Given the description of an element on the screen output the (x, y) to click on. 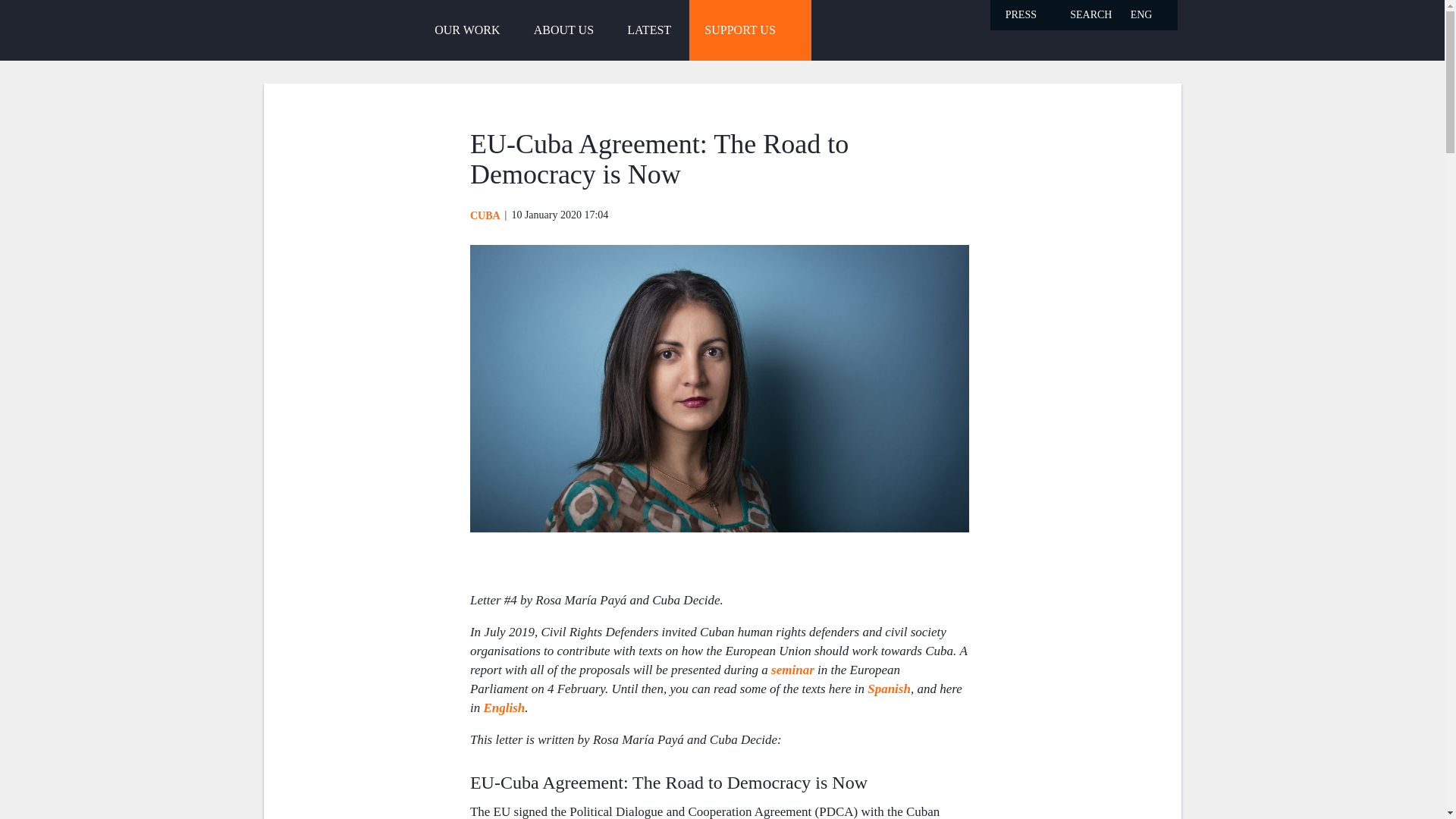
OUR WORK (467, 30)
Civil Rights Defenders (309, 29)
LATEST (648, 30)
ABOUT US (563, 30)
